Given the description of an element on the screen output the (x, y) to click on. 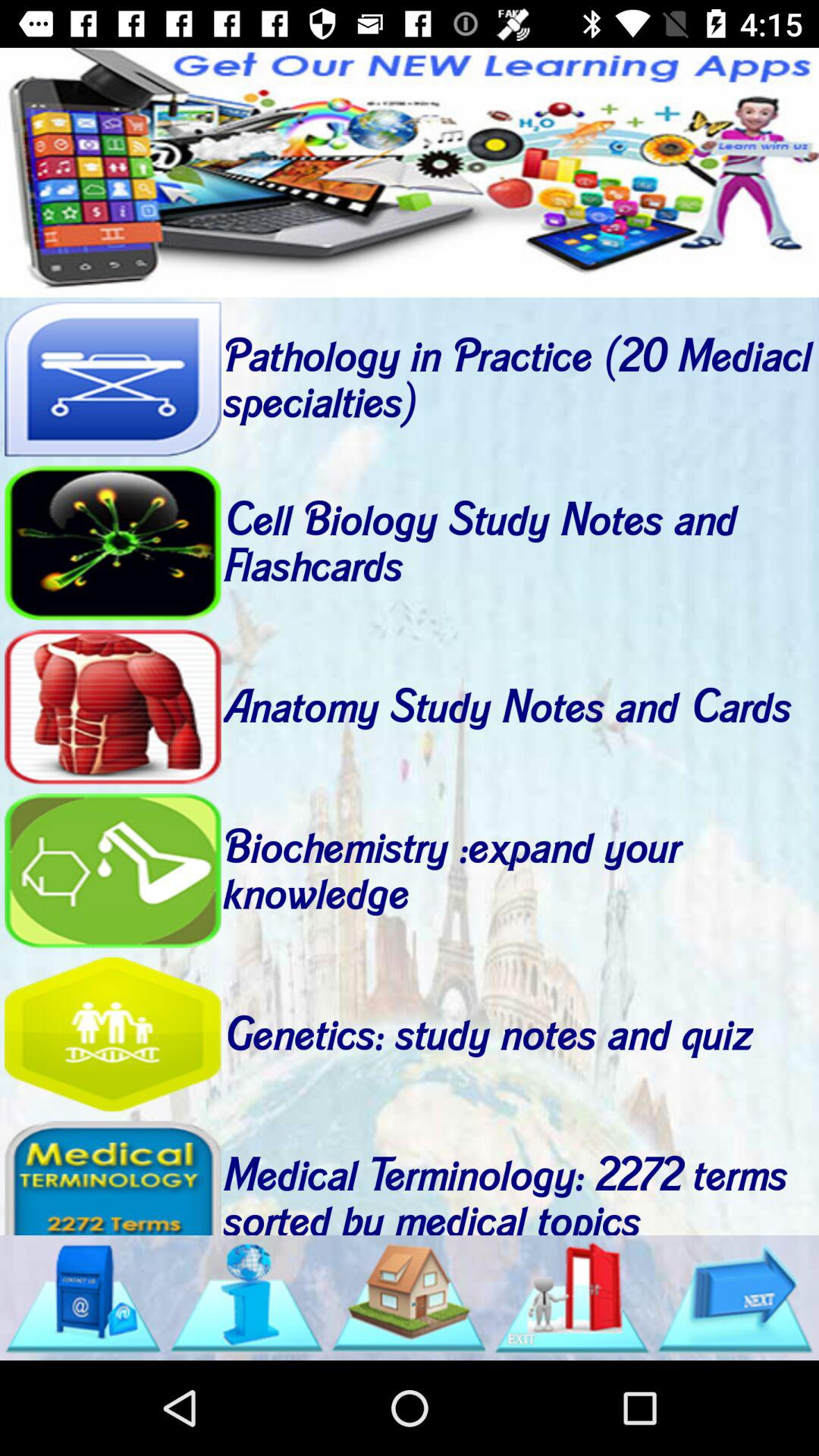
go to pathology in practice download page (112, 378)
